Given the description of an element on the screen output the (x, y) to click on. 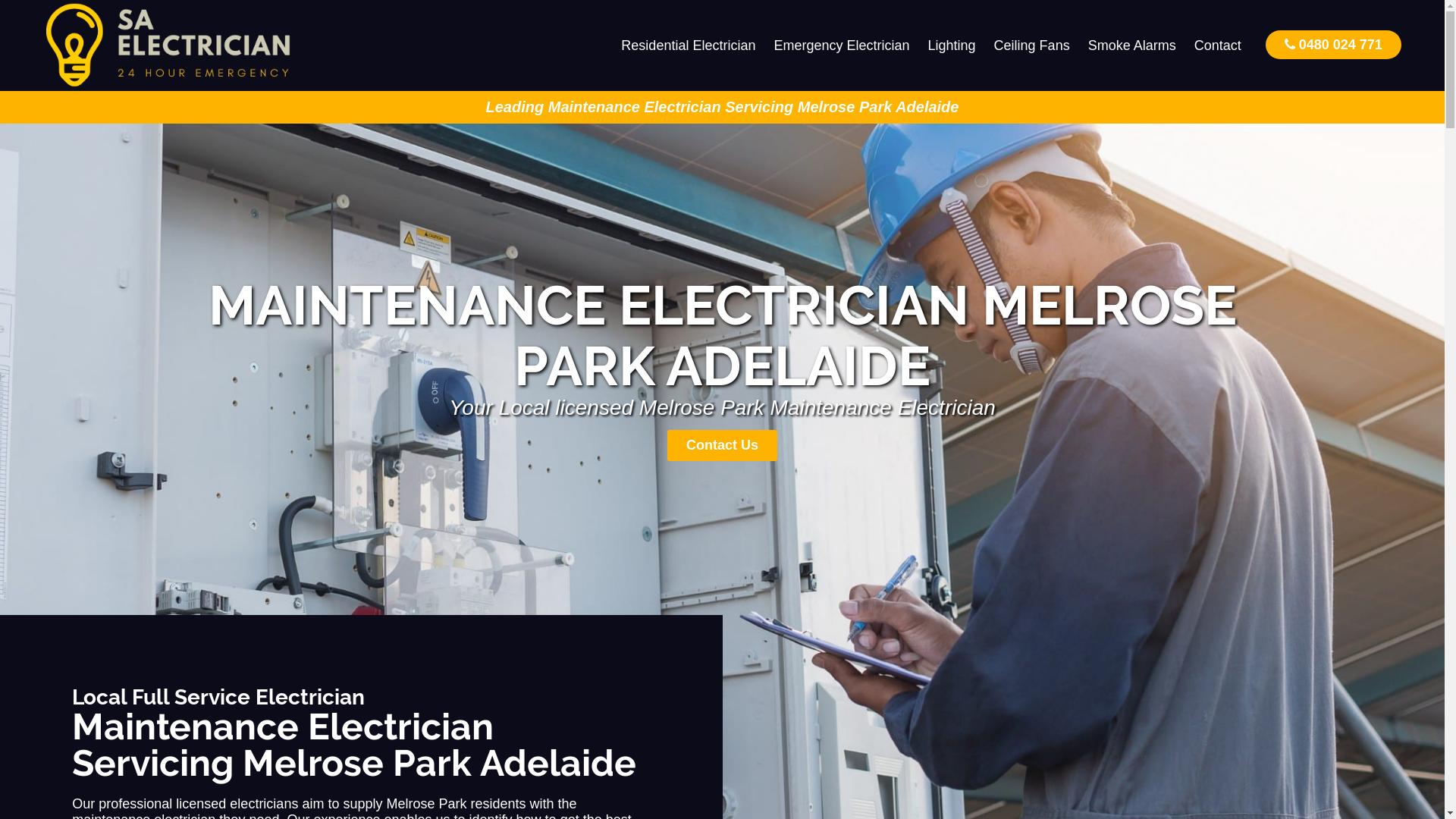
Lighting Element type: text (952, 45)
0480 024 771 Element type: text (1333, 44)
Contact Element type: text (1217, 45)
Contact Us Element type: text (722, 445)
Ceiling Fans Element type: text (1032, 45)
Emergency Electrician Element type: text (841, 45)
Residential Electrician Element type: text (687, 45)
Smoke Alarms Element type: text (1132, 45)
